Given the description of an element on the screen output the (x, y) to click on. 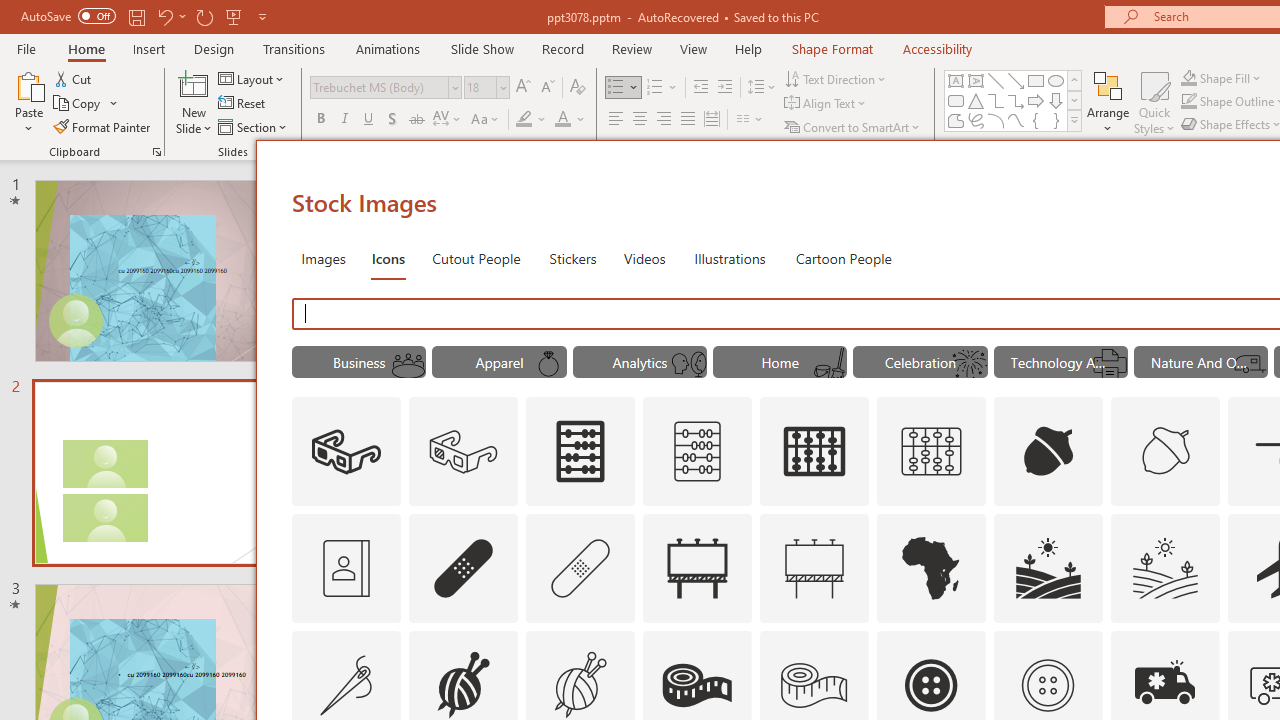
AutomationID: Icons_Printer_M (1109, 364)
AutomationID: Icons_Abacus1 (815, 452)
Align Right (663, 119)
AutomationID: Icons_3dGlasses_M (463, 452)
Increase Indent (725, 87)
Italic (344, 119)
Thumbnail (1204, 645)
AutomationID: Icons_Abacus (580, 452)
Decrease Font Size (547, 87)
"Analytics" Icons. (639, 362)
